Given the description of an element on the screen output the (x, y) to click on. 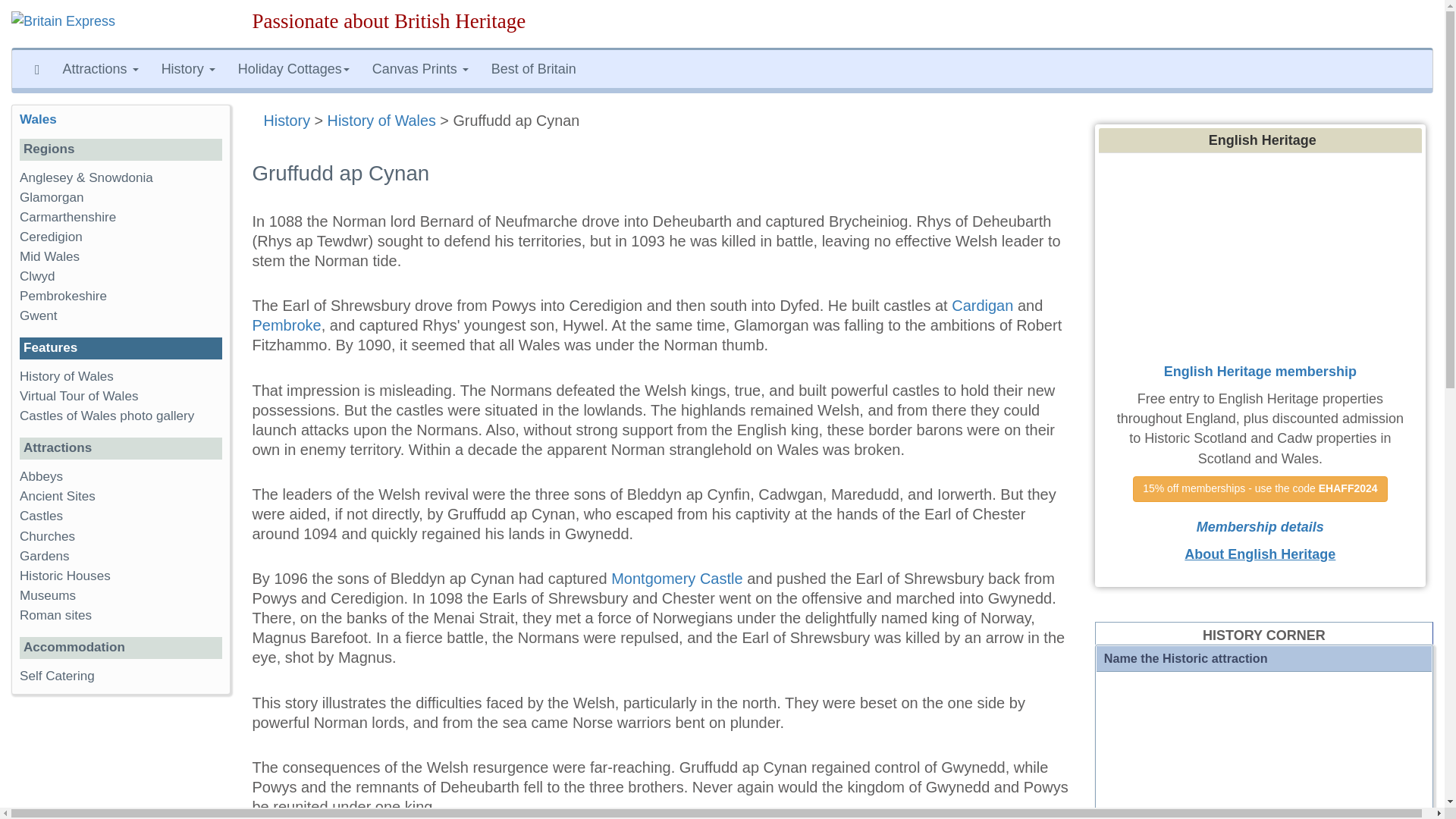
Holiday Cottages (294, 68)
Canvas Prints (420, 68)
Britain Express home page (120, 23)
Montgomery Castle (676, 578)
History (287, 120)
Cardigan Castle (982, 305)
Cardigan (982, 305)
Pembroke Castle (285, 324)
Best of Britain (534, 68)
History (188, 68)
